Given the description of an element on the screen output the (x, y) to click on. 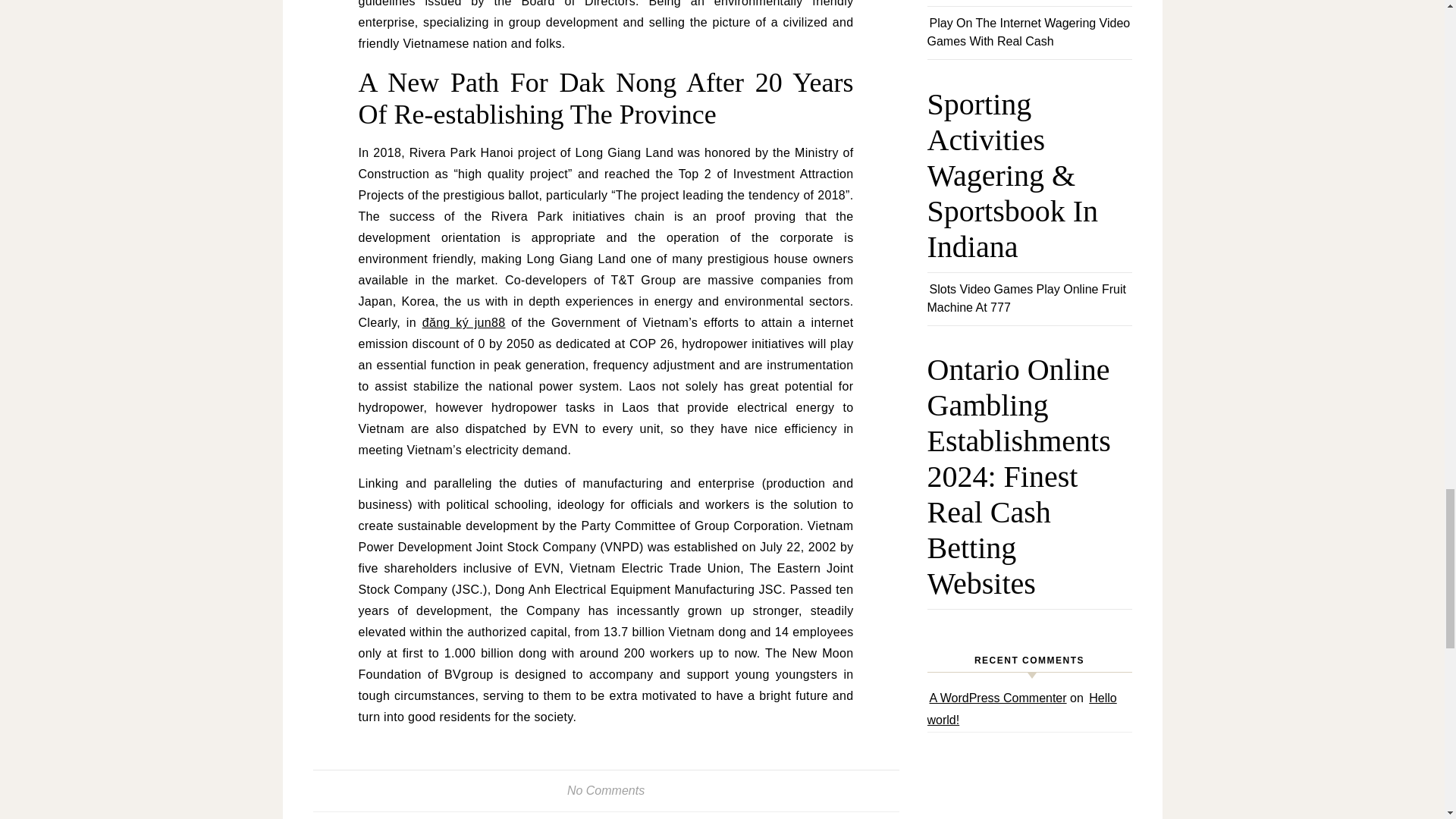
No Comments (606, 789)
